Given the description of an element on the screen output the (x, y) to click on. 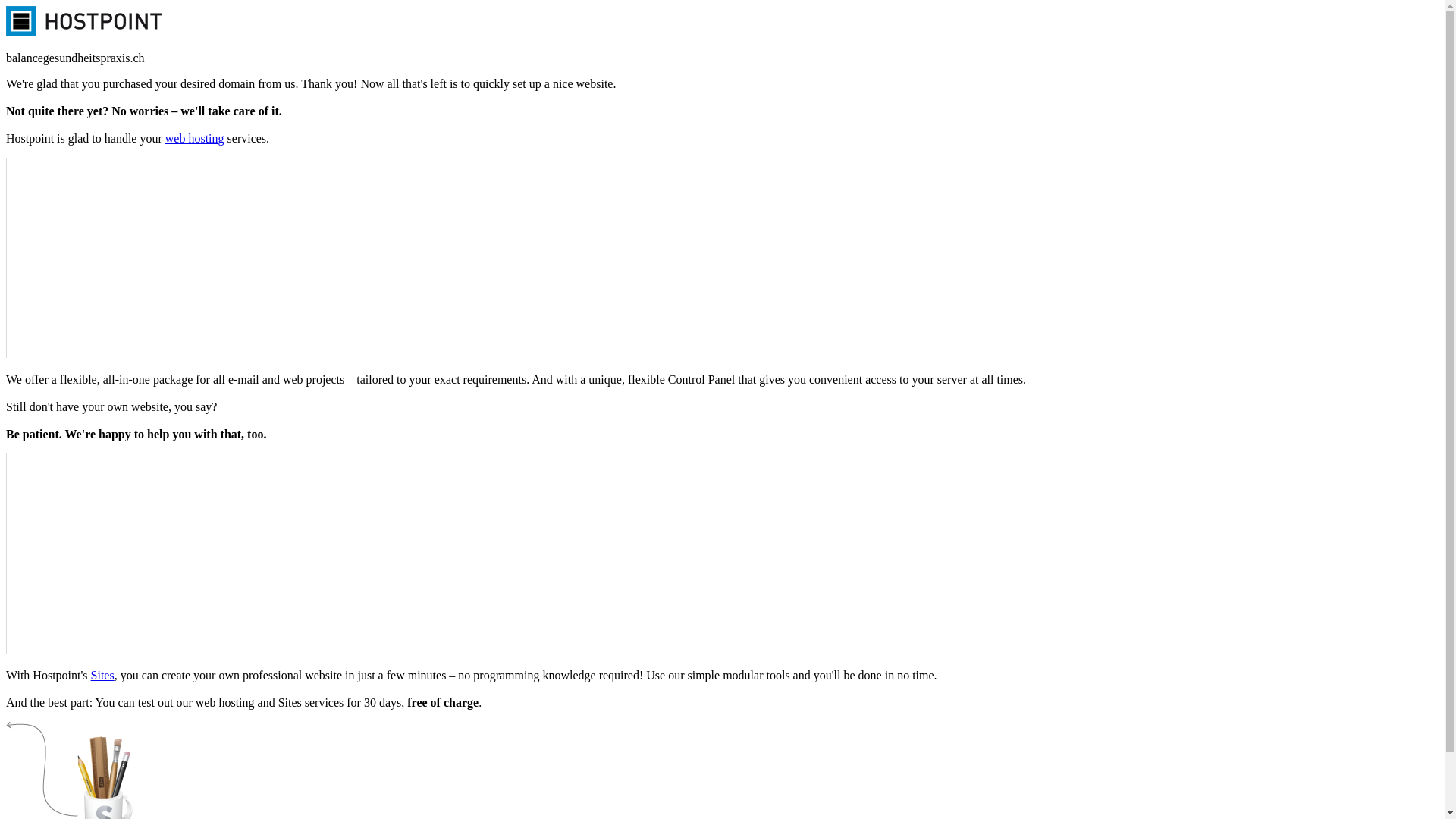
Sites Element type: text (102, 674)
web hosting Element type: text (194, 137)
